Given the description of an element on the screen output the (x, y) to click on. 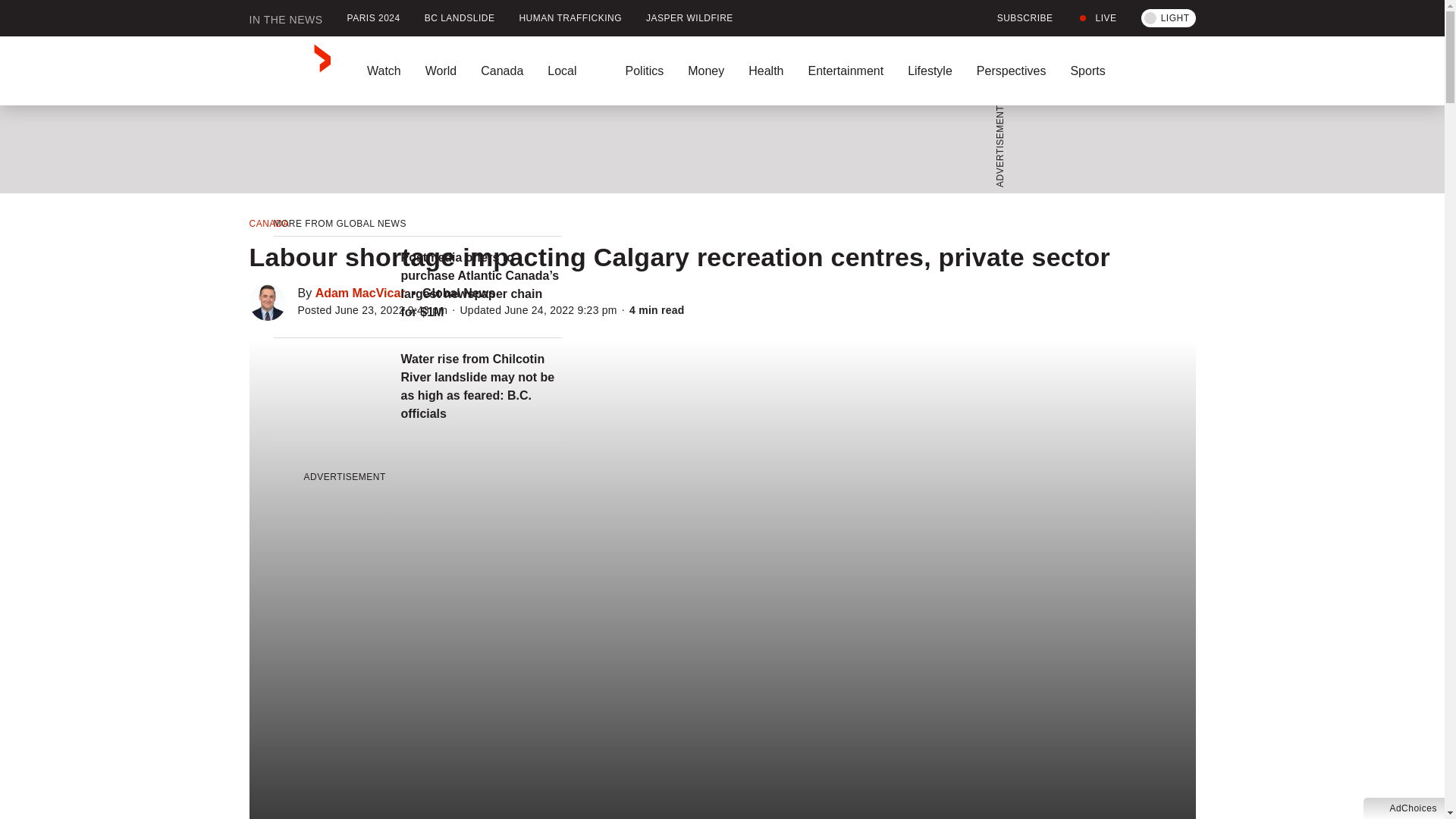
Politics (643, 70)
Lifestyle (929, 70)
SUBSCRIBE (1015, 18)
PARIS 2024 (373, 18)
HUMAN TRAFFICKING (569, 18)
LIVE (1096, 18)
BC LANDSLIDE (459, 18)
Posts by Adam MacVicar (360, 293)
JASPER WILDFIRE (689, 18)
